Given the description of an element on the screen output the (x, y) to click on. 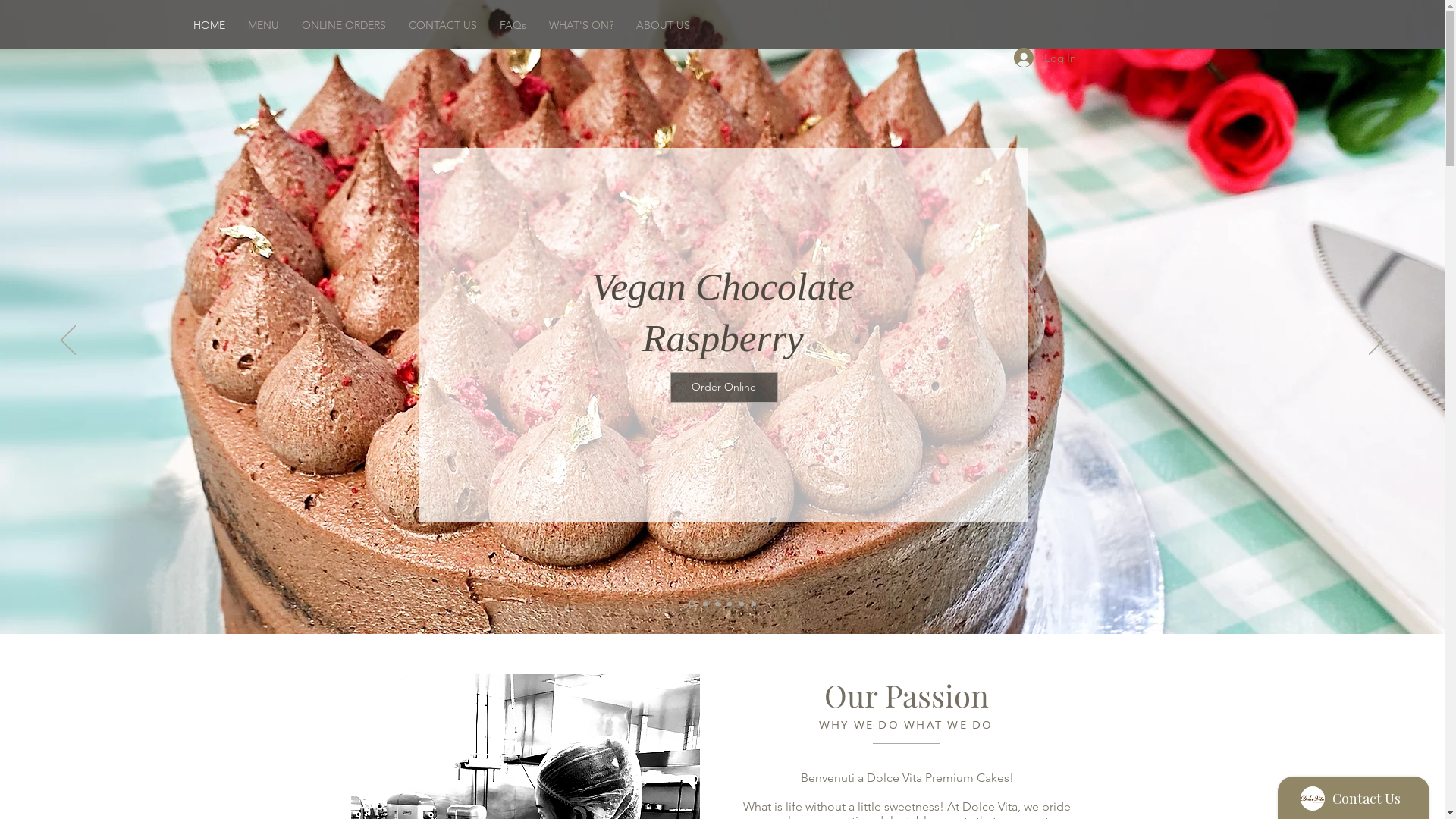
Order Online Element type: text (724, 387)
ABOUT US Element type: text (662, 24)
ONLINE ORDERS Element type: text (343, 24)
FAQs Element type: text (512, 24)
WHAT'S ON? Element type: text (580, 24)
CONTACT US Element type: text (442, 24)
Log In Element type: text (1043, 57)
MENU Element type: text (263, 24)
HOME Element type: text (209, 24)
Restaurant Social Bar Element type: hover (1242, 24)
